Given the description of an element on the screen output the (x, y) to click on. 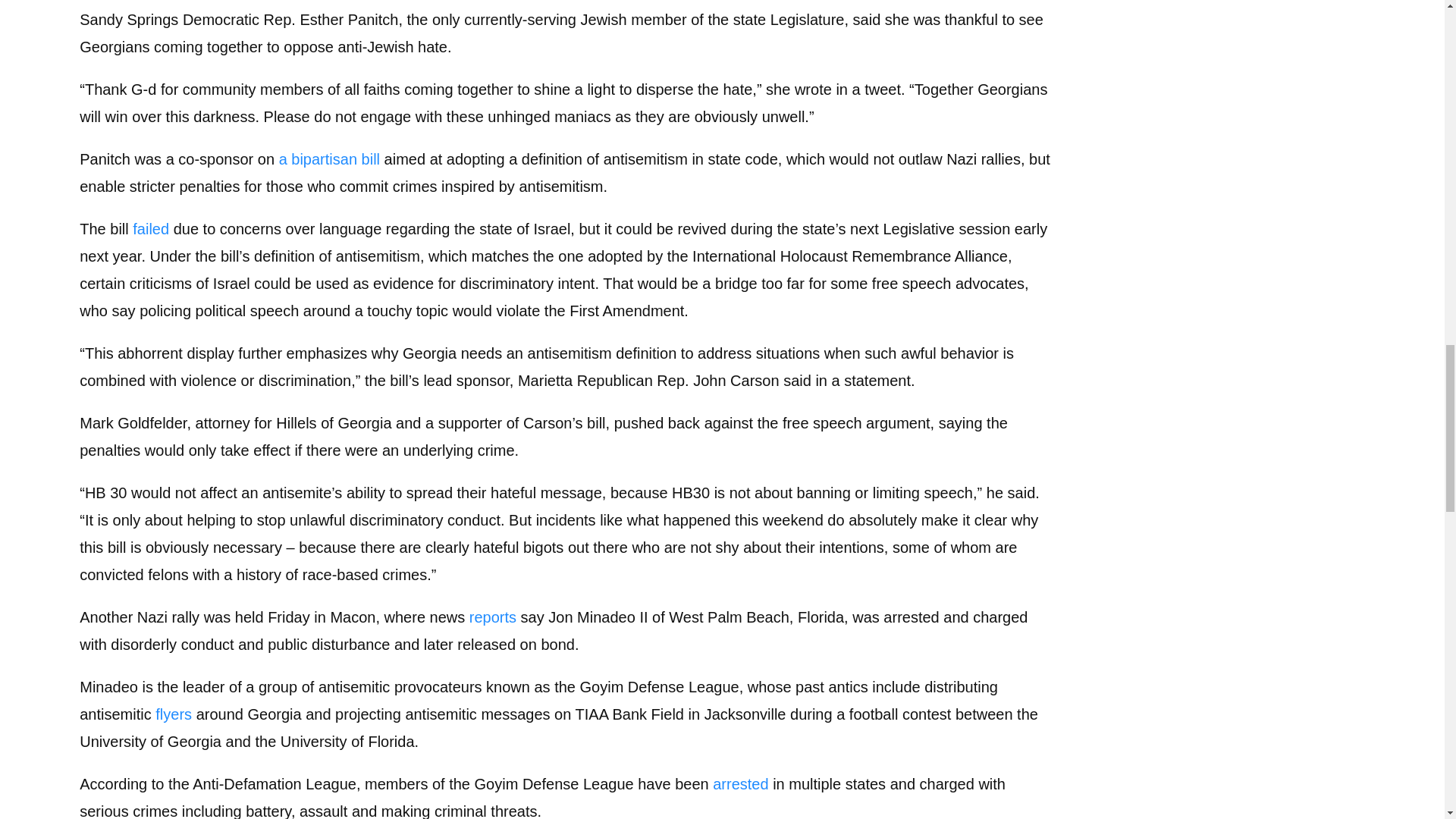
a bipartisan bill (329, 158)
arrested (740, 783)
flyers (173, 713)
reports (492, 617)
failed (150, 228)
